Given the description of an element on the screen output the (x, y) to click on. 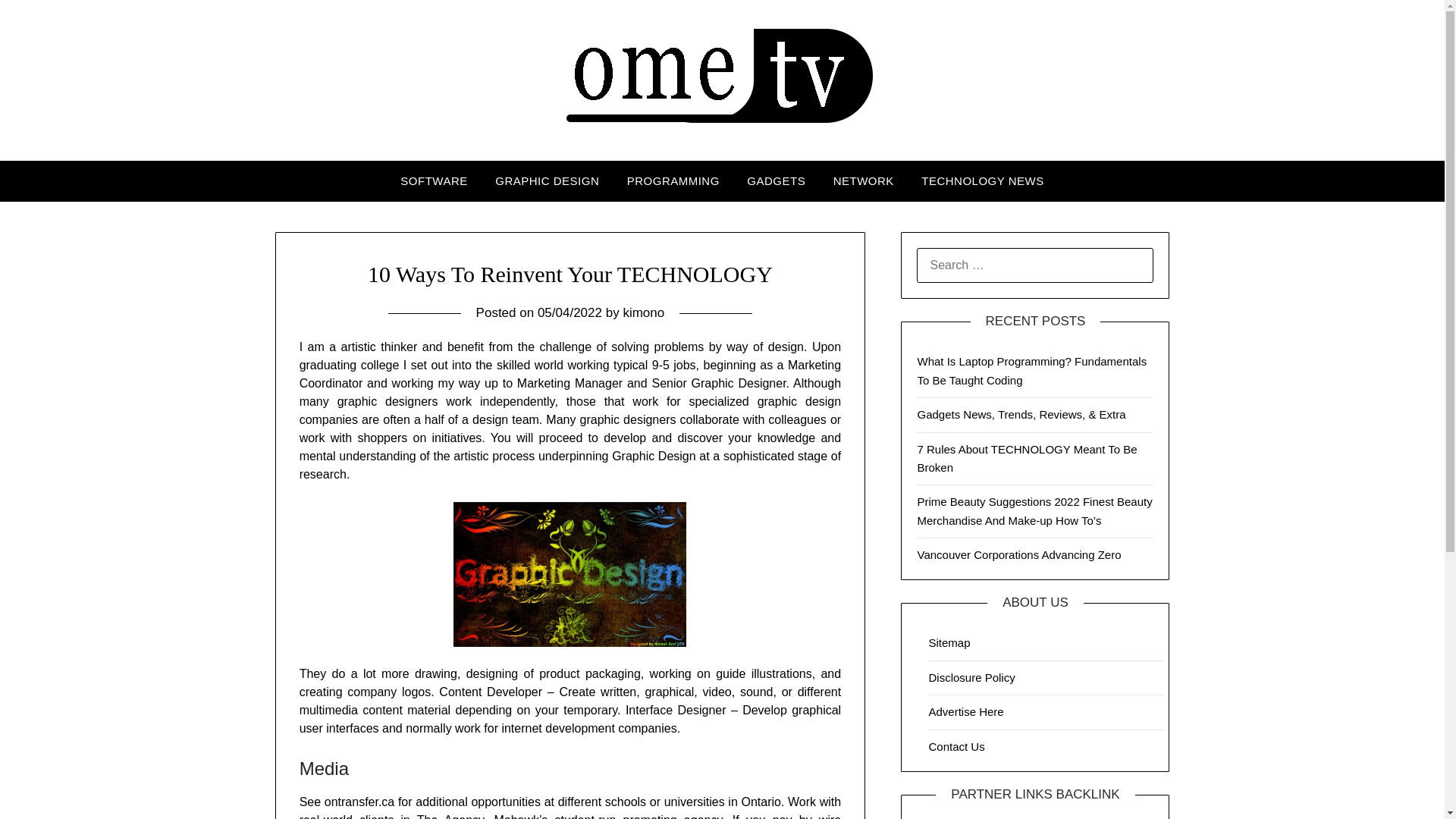
SOFTWARE (433, 180)
What Is Laptop Programming? Fundamentals To Be Taught Coding (1032, 369)
Search (38, 22)
GADGETS (775, 180)
7 Rules About TECHNOLOGY Meant To Be Broken (1027, 458)
NETWORK (863, 180)
GRAPHIC DESIGN (547, 180)
Disclosure Policy (971, 676)
PROGRAMMING (673, 180)
Contact Us (956, 746)
kimono (643, 312)
Vancouver Corporations Advancing Zero (1019, 554)
Sitemap (948, 642)
TECHNOLOGY NEWS (981, 180)
Advertise Here (965, 711)
